Given the description of an element on the screen output the (x, y) to click on. 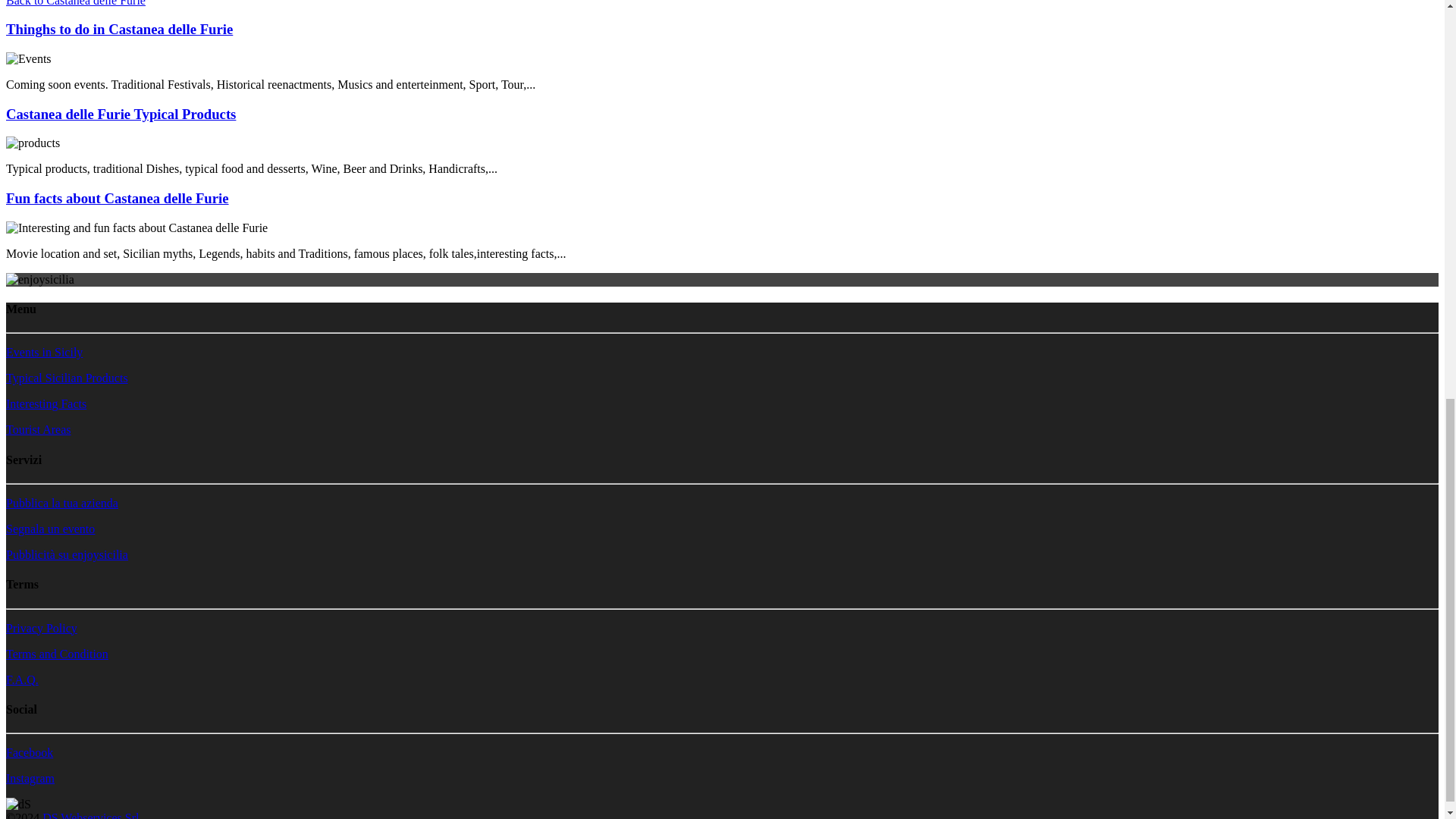
Fun facts about Castanea delle Furie (116, 198)
Interesting Facts (45, 403)
Back to Castanea delle Furie (75, 3)
Tourist Areas (38, 429)
Thinghs to do in Castanea delle Furie (118, 28)
Castanea delle Furie Typical Products (120, 114)
Pubblica la tua azienda (61, 502)
Typical Sicilian Products (66, 377)
Events in Sicily (43, 351)
